Given the description of an element on the screen output the (x, y) to click on. 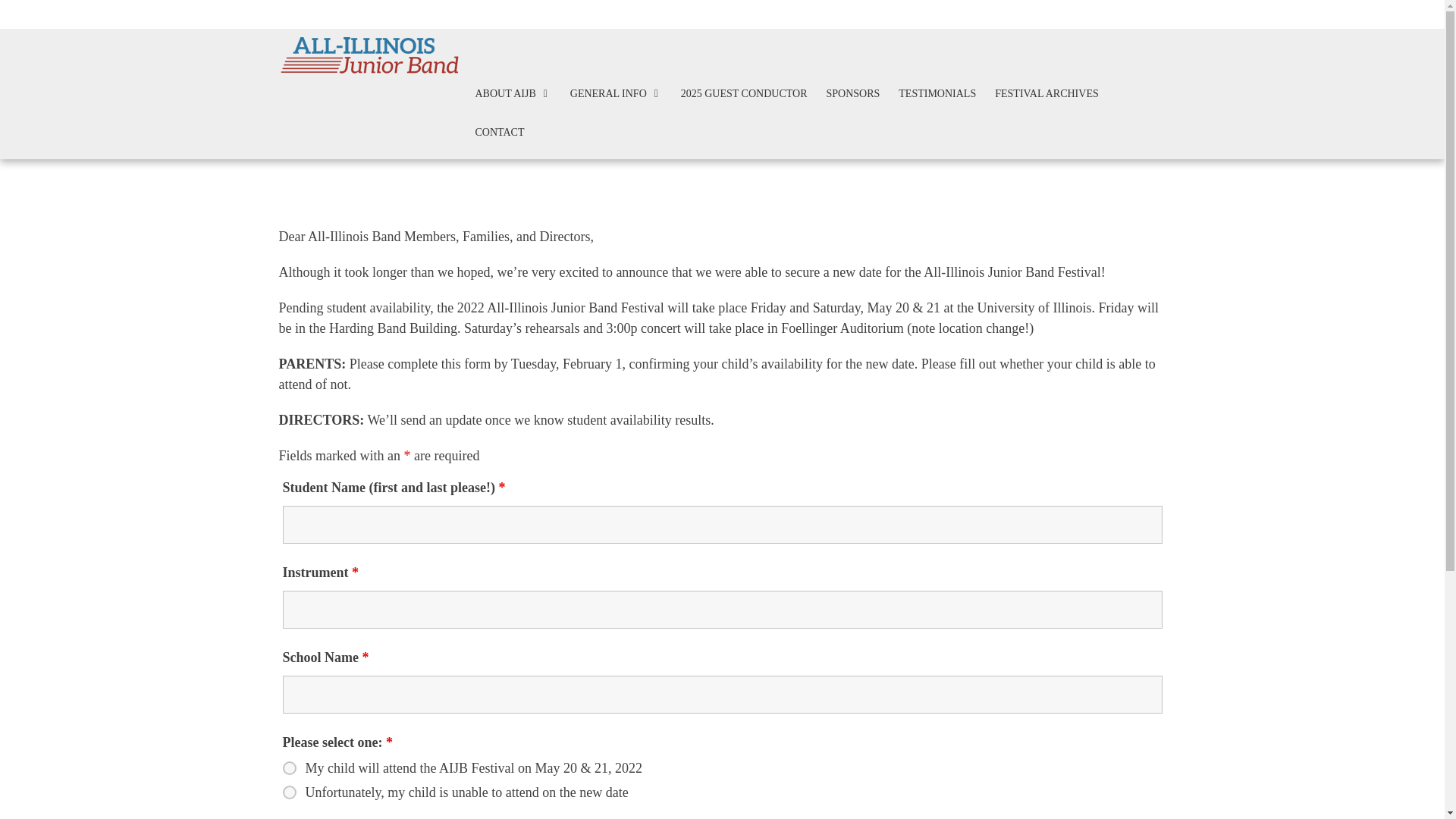
Director Login (1131, 14)
FESTIVAL ARCHIVES (1046, 93)
TESTIMONIALS (936, 93)
GENERAL INFO (616, 93)
2025 GUEST CONDUCTOR (744, 93)
CONTACT (499, 132)
ABOUT AIJB (512, 93)
SPONSORS (852, 93)
